Given the description of an element on the screen output the (x, y) to click on. 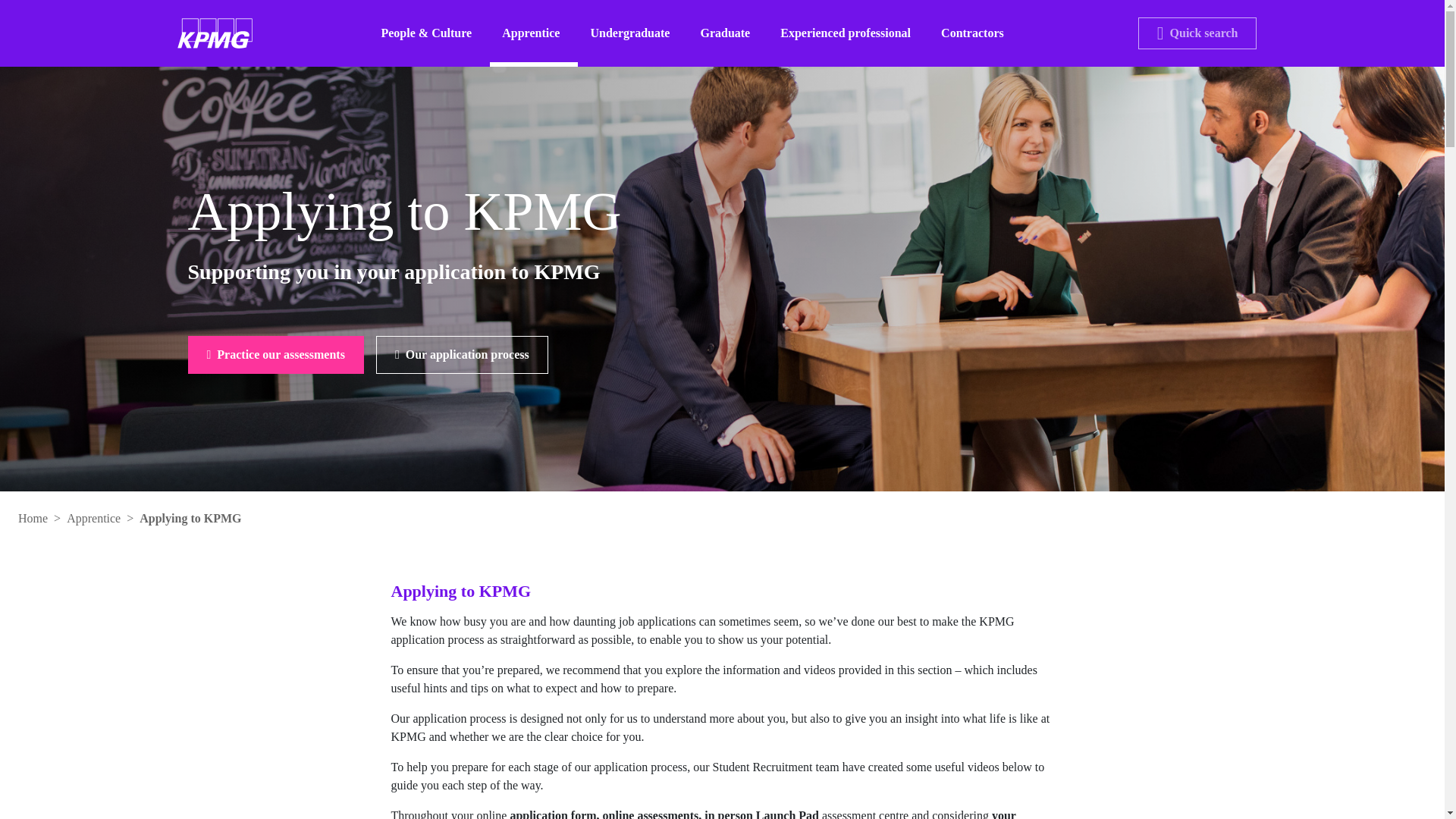
Our application process (461, 354)
Graduate (727, 33)
Skip to main content (248, 6)
Undergraduate (632, 33)
Experienced professional (848, 33)
Apprentice (533, 33)
Practice our assessments (275, 354)
